Given the description of an element on the screen output the (x, y) to click on. 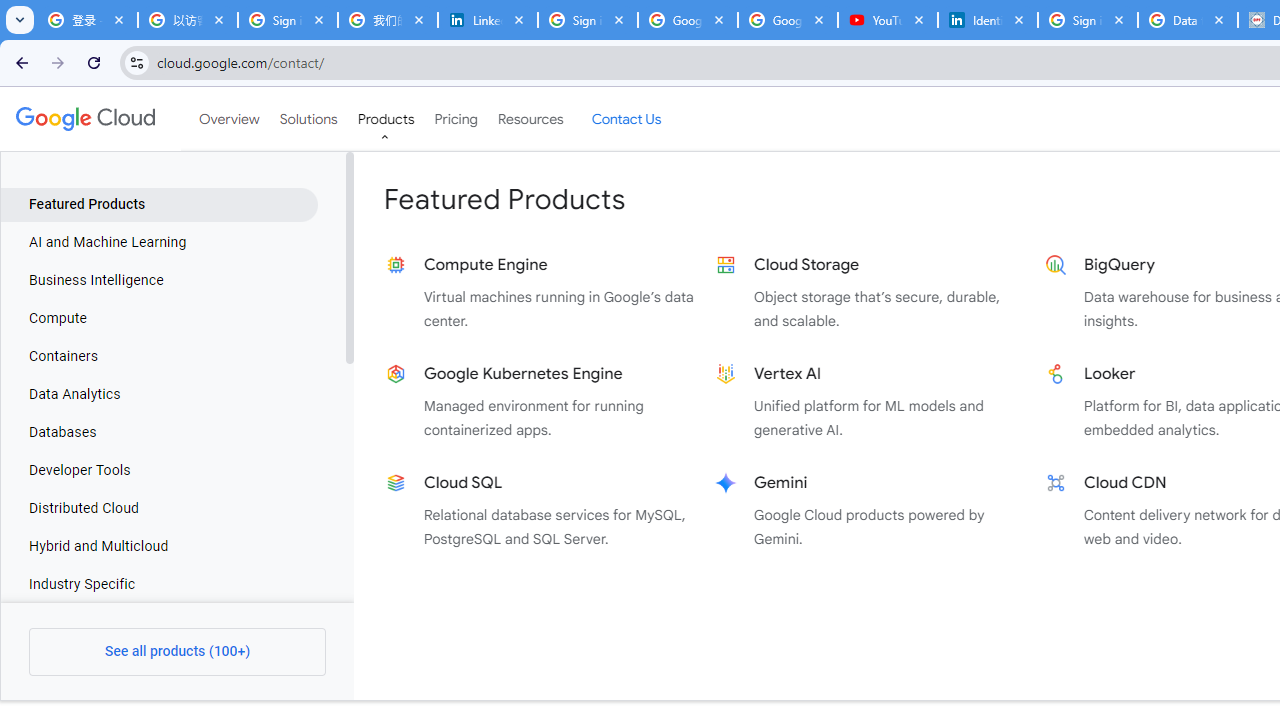
Featured Products (159, 204)
Sign in - Google Accounts (587, 20)
Business Intelligence (159, 281)
Hybrid and Multicloud (159, 546)
Industry Specific (159, 584)
Solutions (308, 119)
Find a Google Cloud partner (835, 682)
Containers (159, 356)
LinkedIn Privacy Policy (487, 20)
Pricing (455, 119)
